Given the description of an element on the screen output the (x, y) to click on. 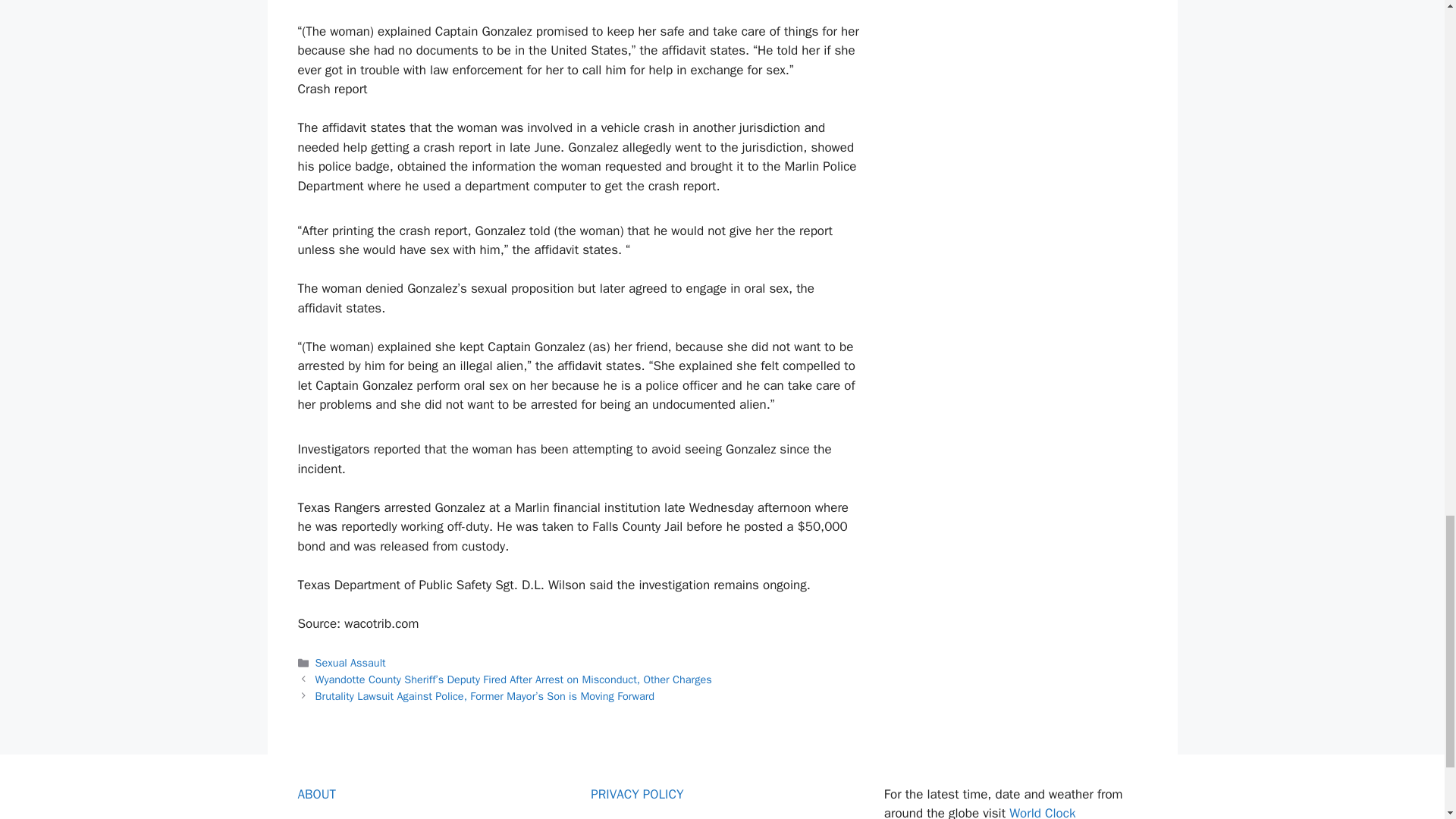
PRIVACY POLICY (636, 794)
World Clock (1042, 812)
Sexual Assault (350, 662)
ABOUT (316, 794)
